Given the description of an element on the screen output the (x, y) to click on. 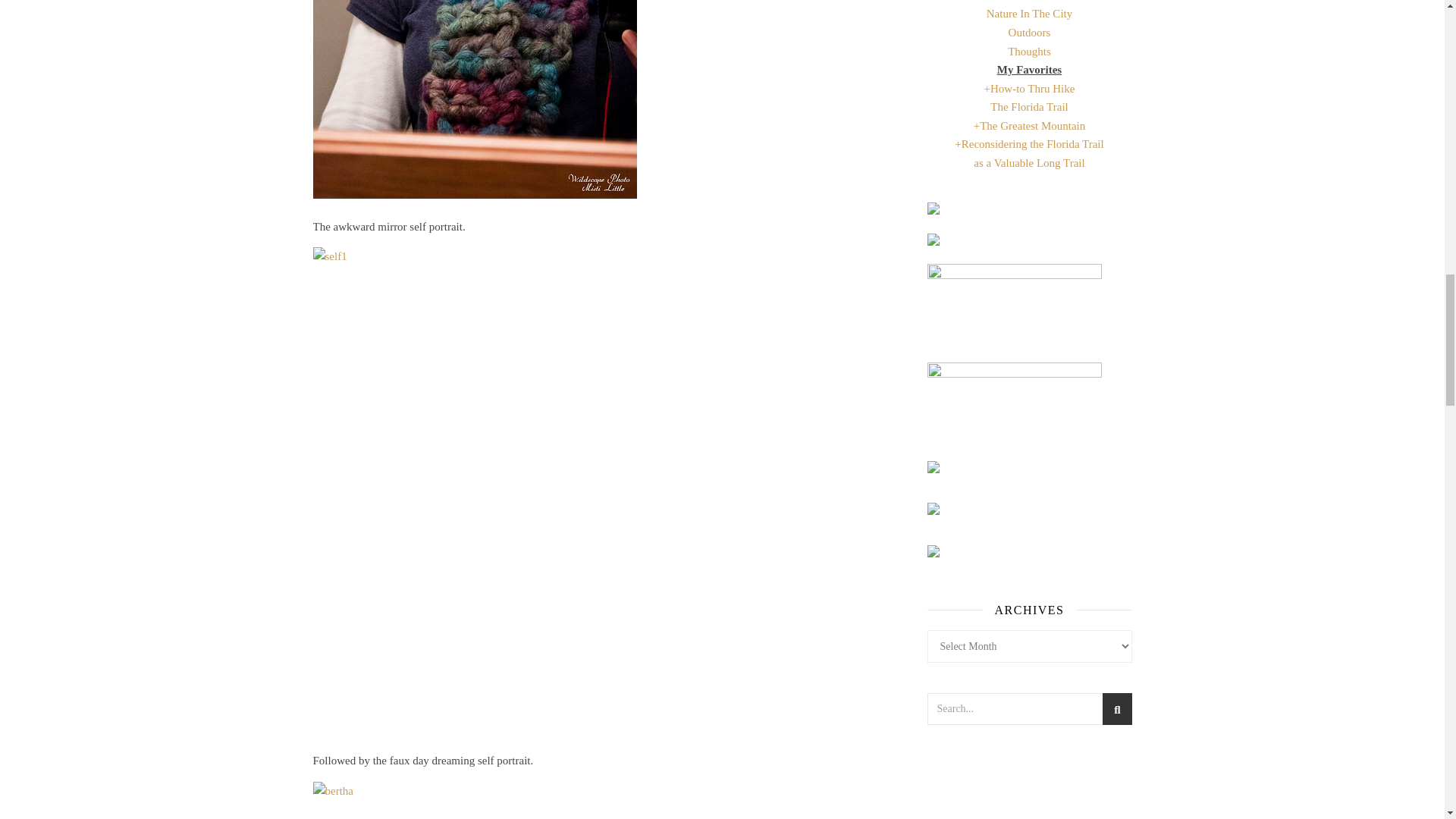
self2 by Oceanic Wilderness, on Flickr (605, 106)
bertha by Oceanic Wilderness, on Flickr (605, 800)
